Given the description of an element on the screen output the (x, y) to click on. 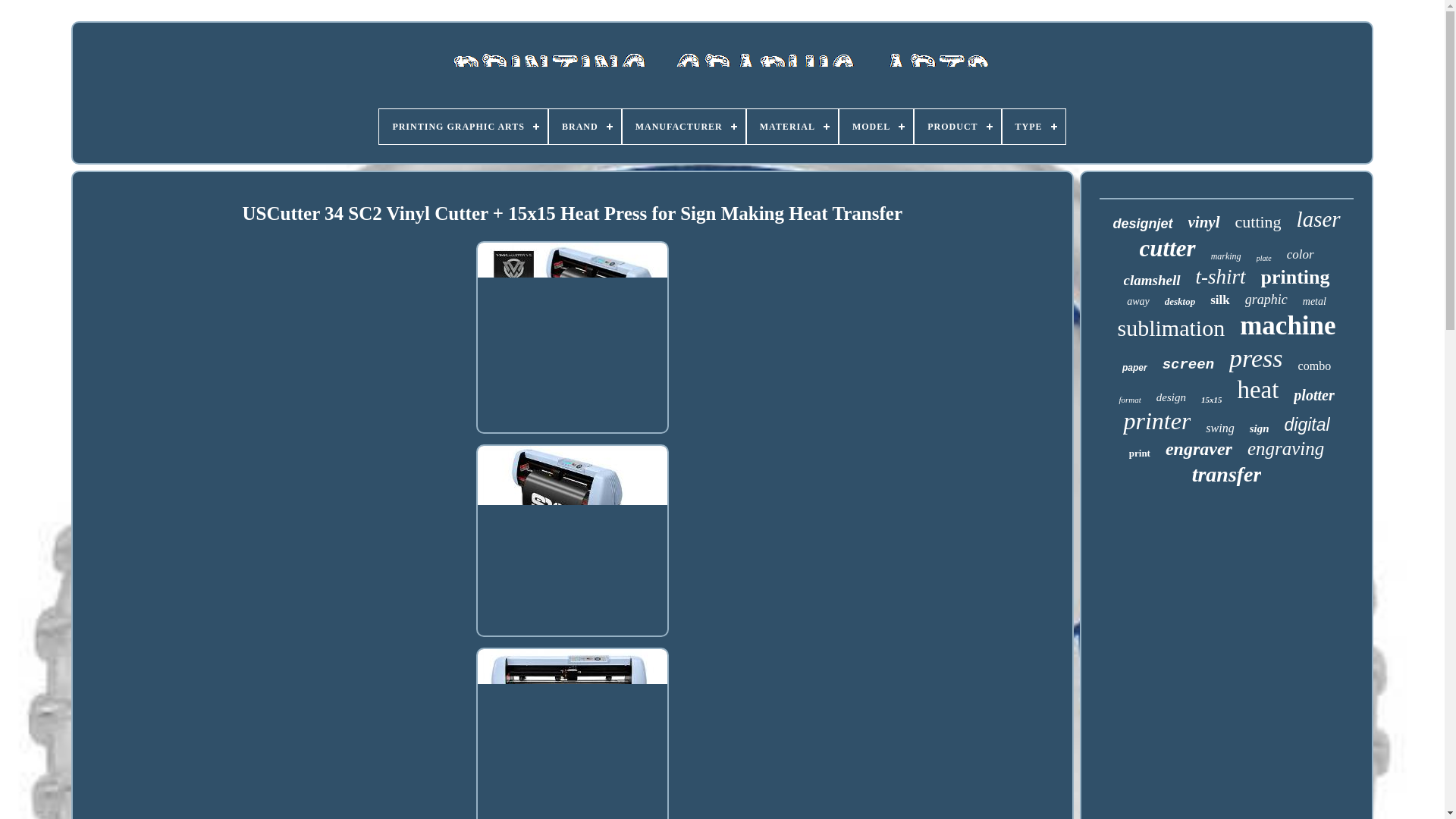
PRINTING GRAPHIC ARTS (462, 126)
MATERIAL (792, 126)
BRAND (584, 126)
MANUFACTURER (684, 126)
